Given the description of an element on the screen output the (x, y) to click on. 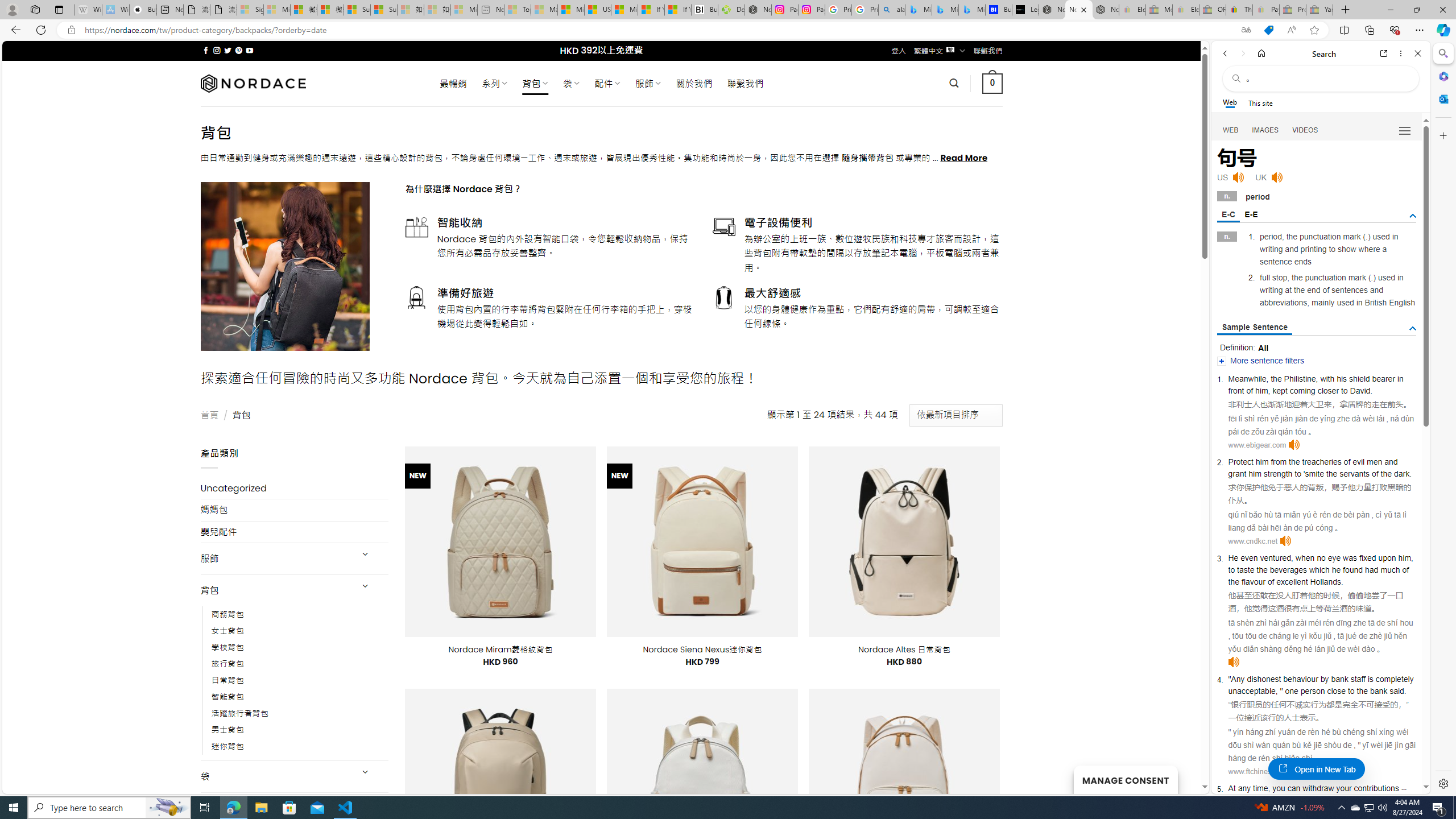
him (1403, 557)
Sign in to your Microsoft account - Sleeping (249, 9)
grant (1236, 473)
is (1370, 678)
Payments Terms of Use | eBay.com - Sleeping (1265, 9)
AutomationID: tgdef (1412, 215)
David (1359, 390)
